Given the description of an element on the screen output the (x, y) to click on. 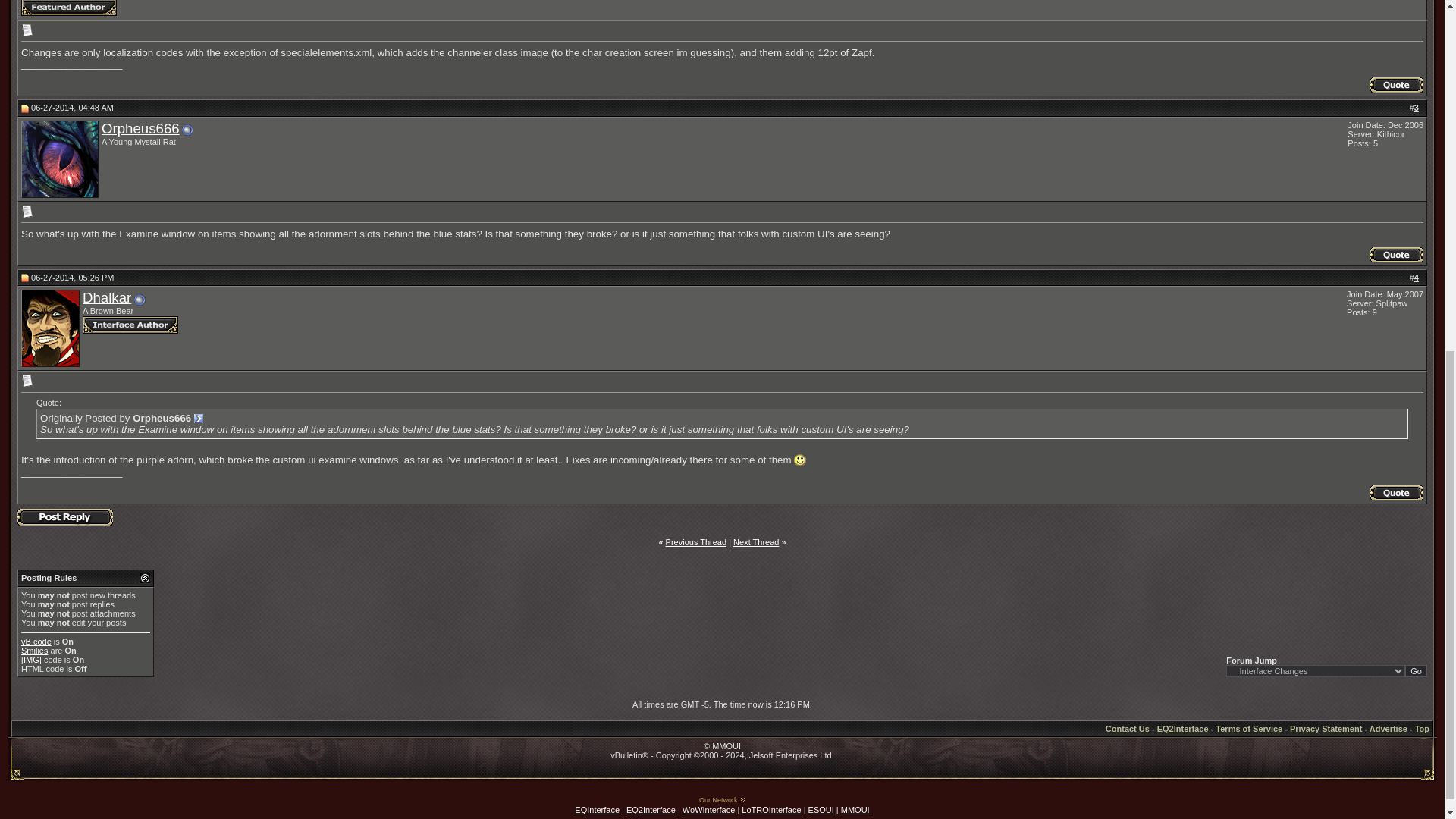
Go (1415, 671)
